Given the description of an element on the screen output the (x, y) to click on. 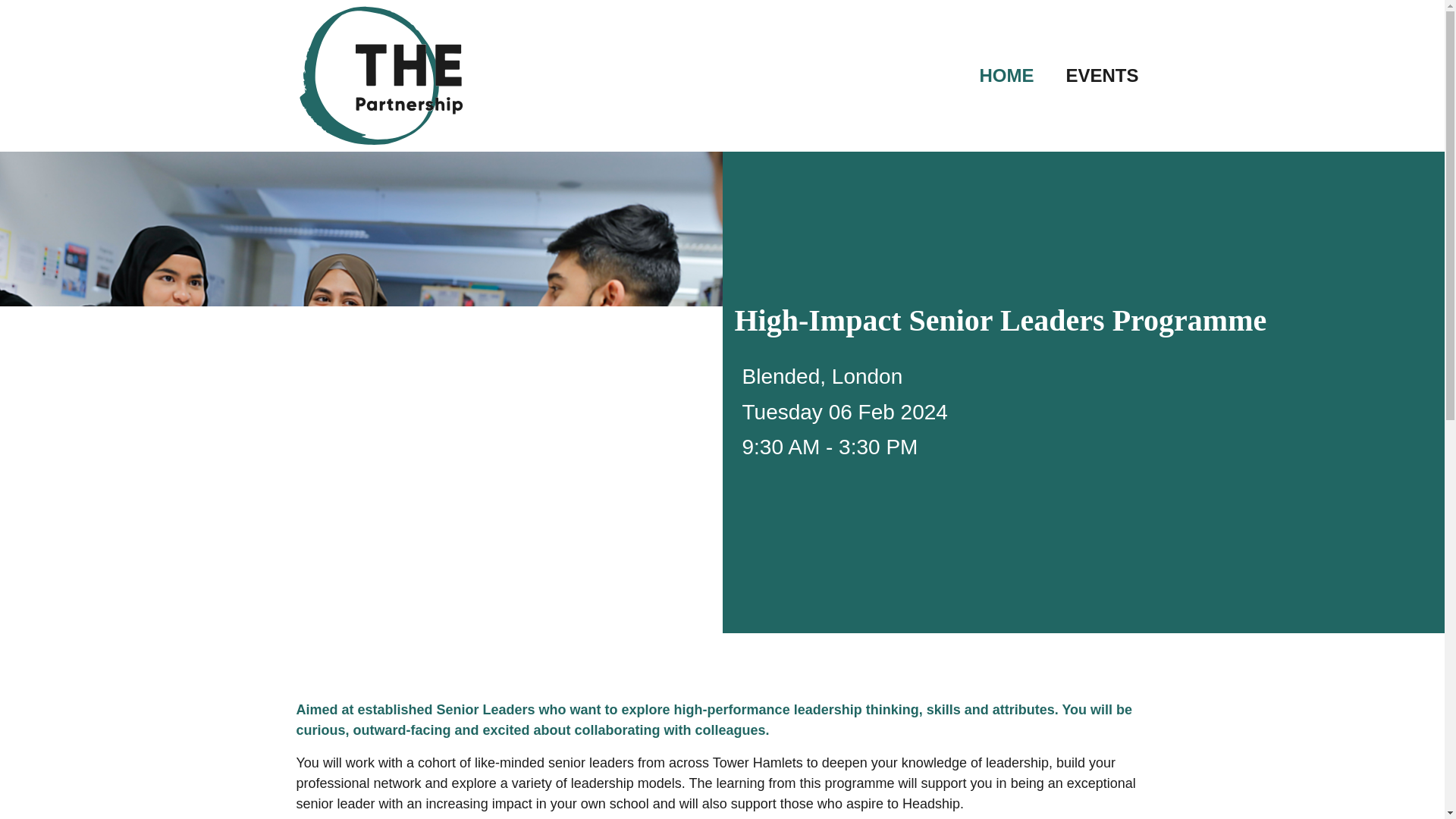
HOME (1005, 75)
EVENTS (1101, 75)
